Given the description of an element on the screen output the (x, y) to click on. 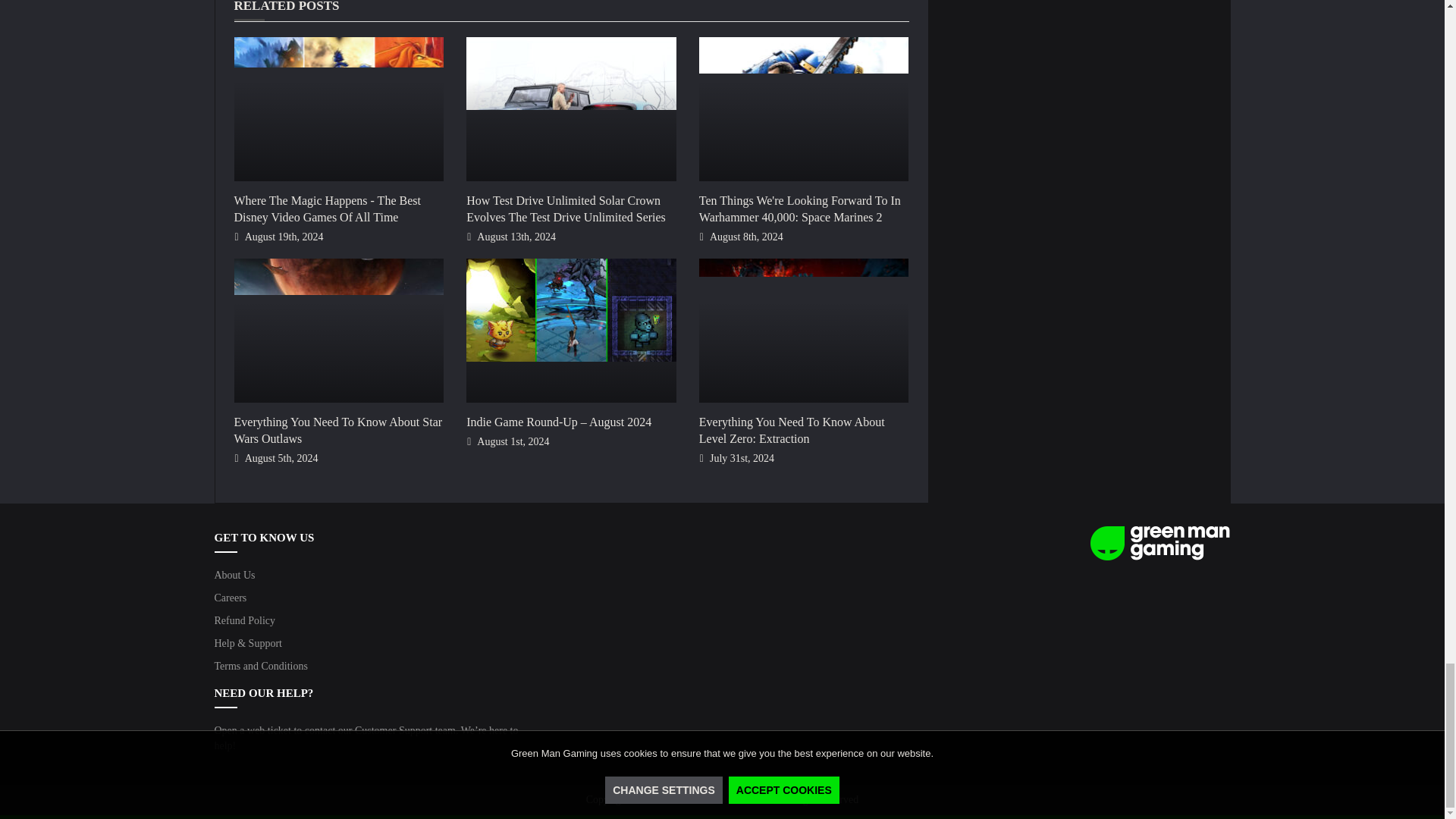
Refund Policy (244, 620)
About Us (234, 574)
Terms and Conditions (260, 665)
